Given the description of an element on the screen output the (x, y) to click on. 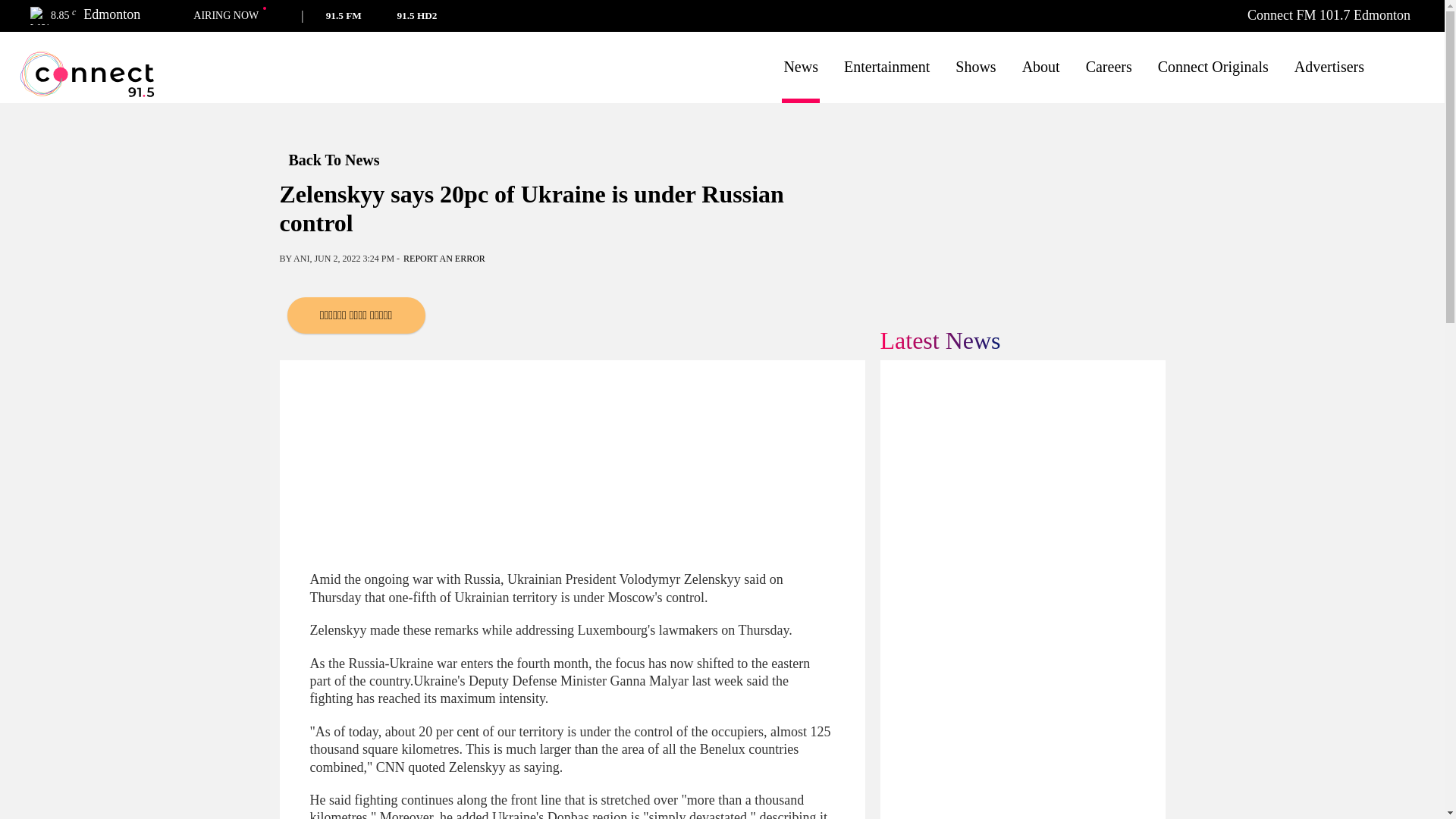
Play (454, 15)
Back To News (349, 159)
Play (330, 15)
Connect Originals (1212, 66)
REPORT AN ERROR (443, 258)
Entertainment (887, 66)
Connect FM 101.7 Edmonton (1328, 14)
Play (379, 15)
Play (430, 15)
Advertisers (1328, 66)
